Given the description of an element on the screen output the (x, y) to click on. 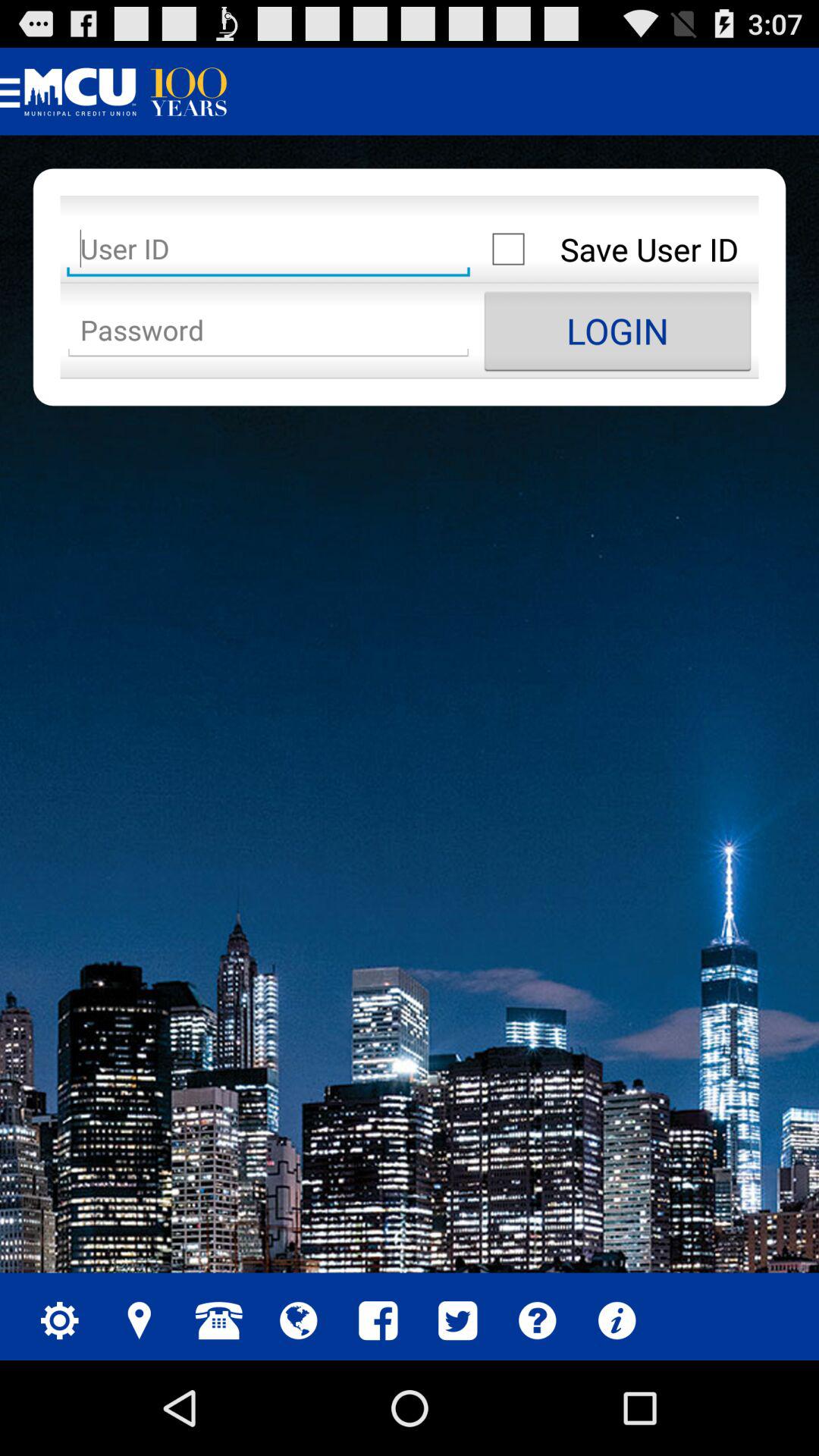
enter password (268, 330)
